Given the description of an element on the screen output the (x, y) to click on. 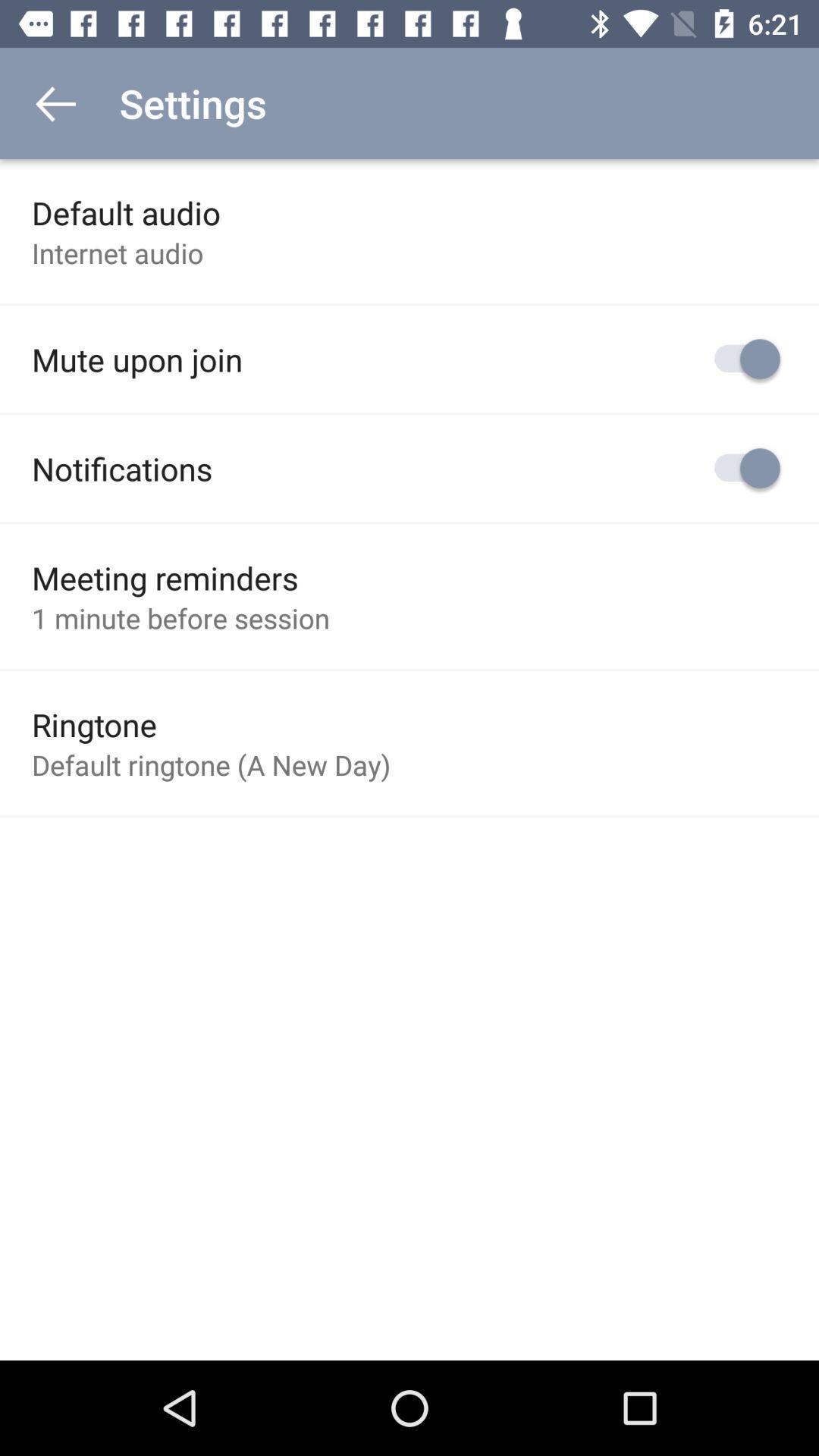
turn on the item next to the settings item (55, 103)
